Given the description of an element on the screen output the (x, y) to click on. 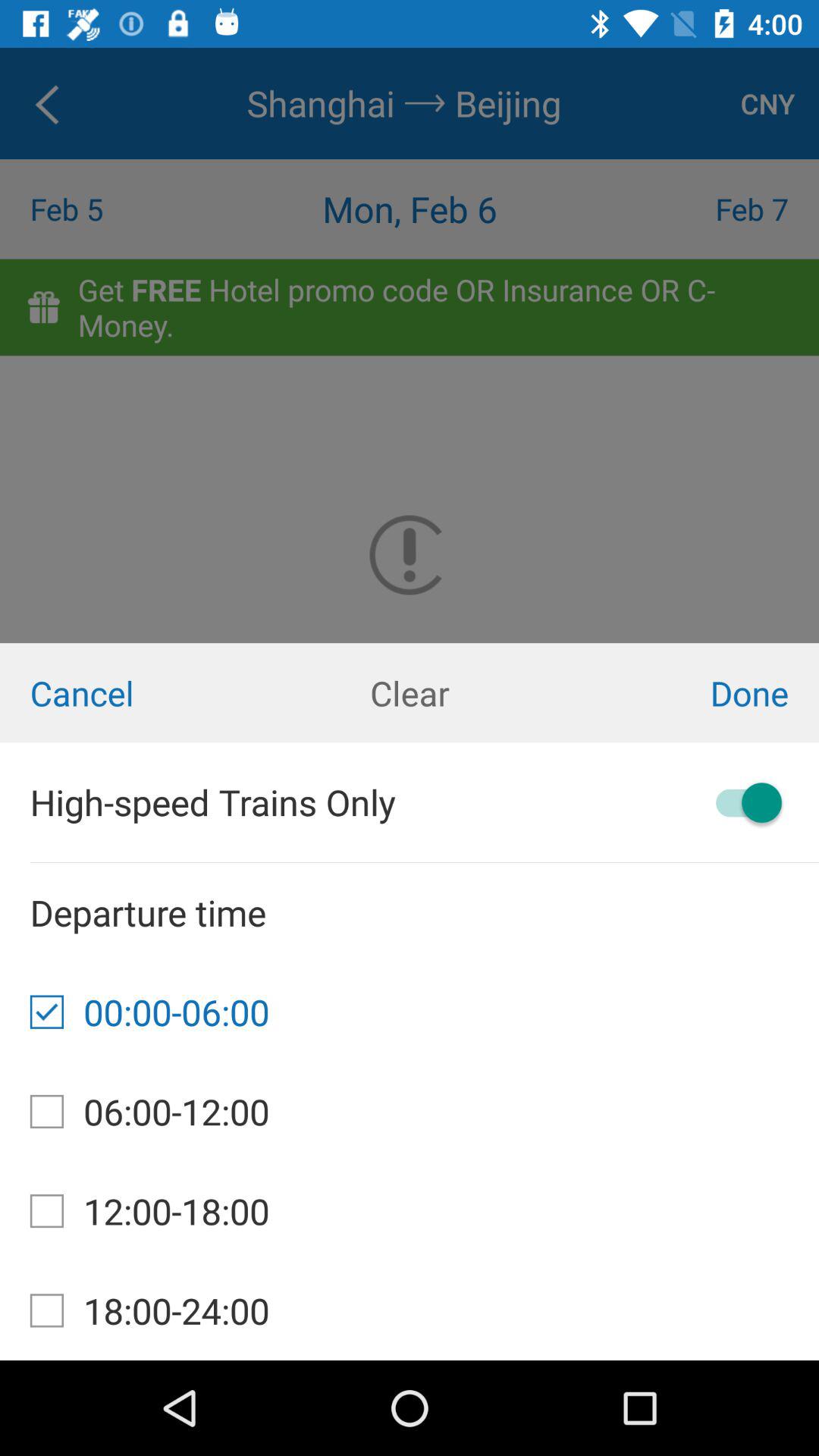
select the icon above the cancel (409, 345)
